Given the description of an element on the screen output the (x, y) to click on. 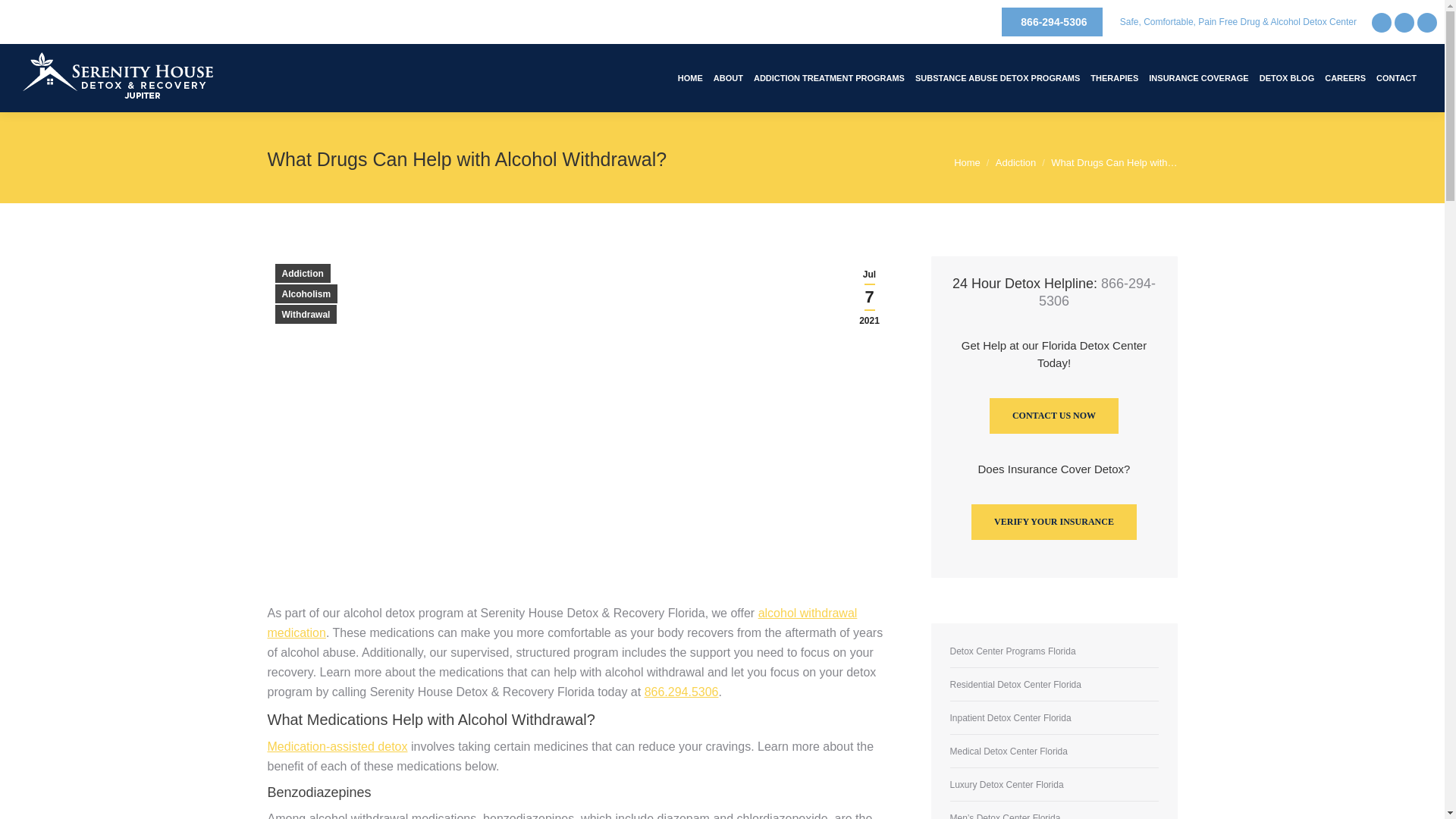
YouTube page opens in new window (1426, 21)
HOME (689, 76)
866-294-5306 (1051, 21)
About Serenity House (727, 76)
ADDICTION TREATMENT PROGRAMS (829, 76)
Detox Programs (829, 76)
ABOUT (727, 76)
SUBSTANCE ABUSE DETOX PROGRAMS (997, 76)
Twitter page opens in new window (1403, 21)
Facebook page opens in new window (1381, 21)
Home (689, 76)
Twitter page opens in new window (1403, 21)
Facebook page opens in new window (1381, 21)
YouTube page opens in new window (1426, 21)
